Given the description of an element on the screen output the (x, y) to click on. 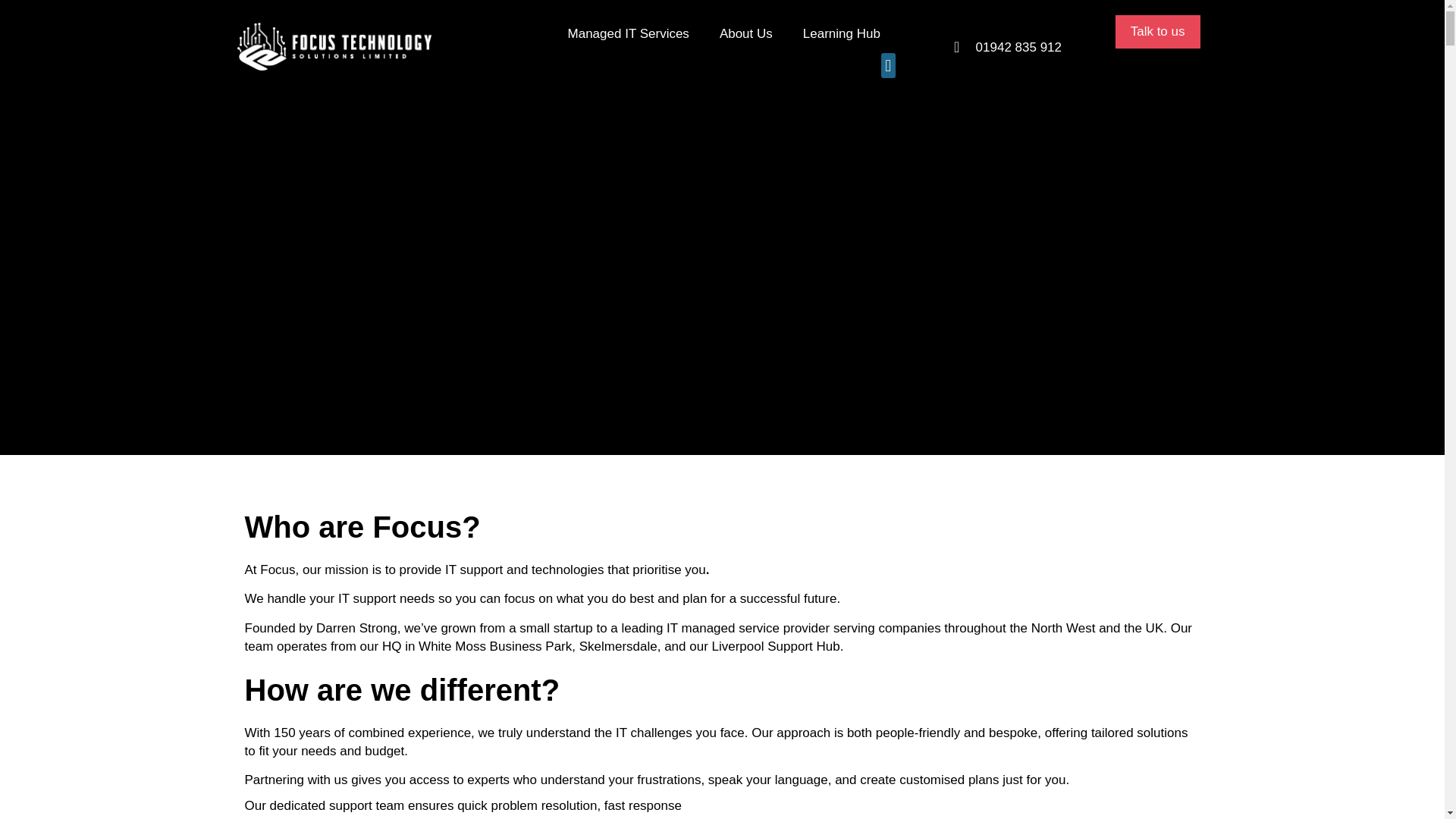
01942 835 912 (1018, 46)
About Us (745, 34)
Talk to us (1157, 31)
Managed IT Services (628, 34)
Learning Hub (841, 34)
